Given the description of an element on the screen output the (x, y) to click on. 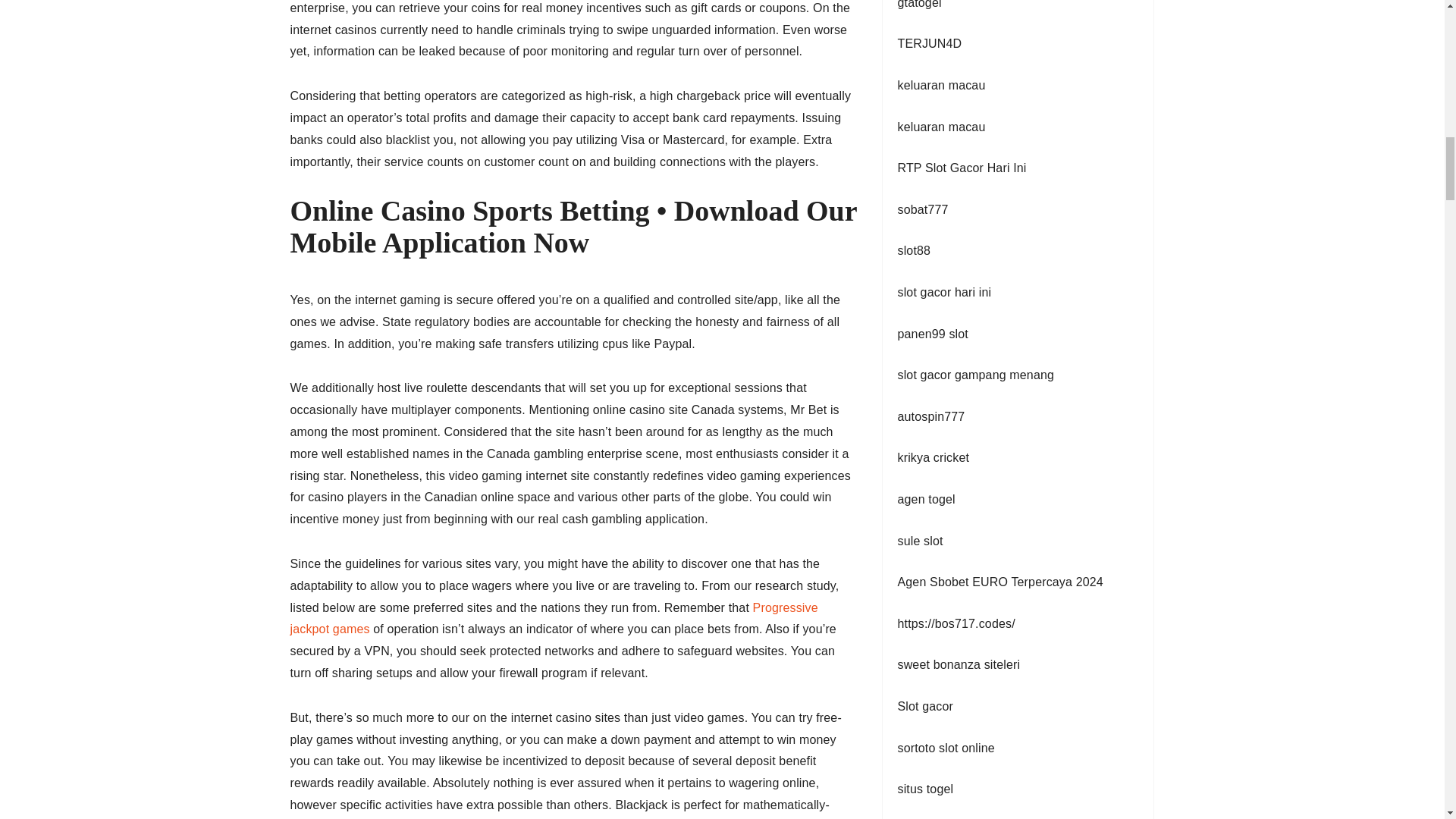
Progressive jackpot games (552, 618)
